Given the description of an element on the screen output the (x, y) to click on. 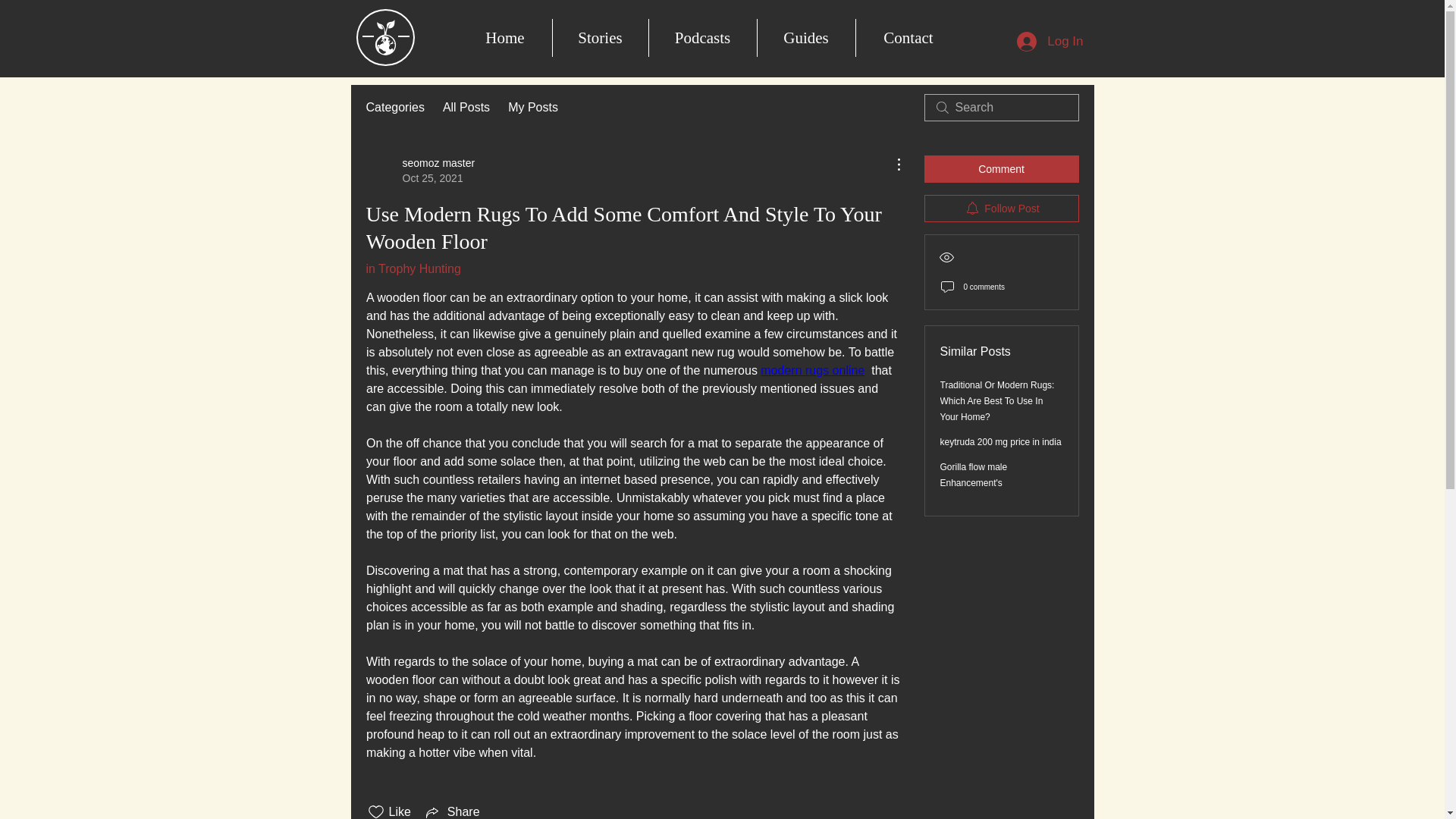
Log In (1049, 41)
Home (504, 37)
All Posts (465, 107)
keytruda 200 mg price in india (1000, 441)
Categories (394, 107)
Gorilla flow male Enhancement's (973, 474)
Contact (908, 37)
Follow Post (1000, 207)
Podcasts (701, 37)
Comment (1000, 168)
Share (451, 811)
Stories (599, 37)
modern rugs online (812, 369)
in Trophy Hunting (412, 268)
